Given the description of an element on the screen output the (x, y) to click on. 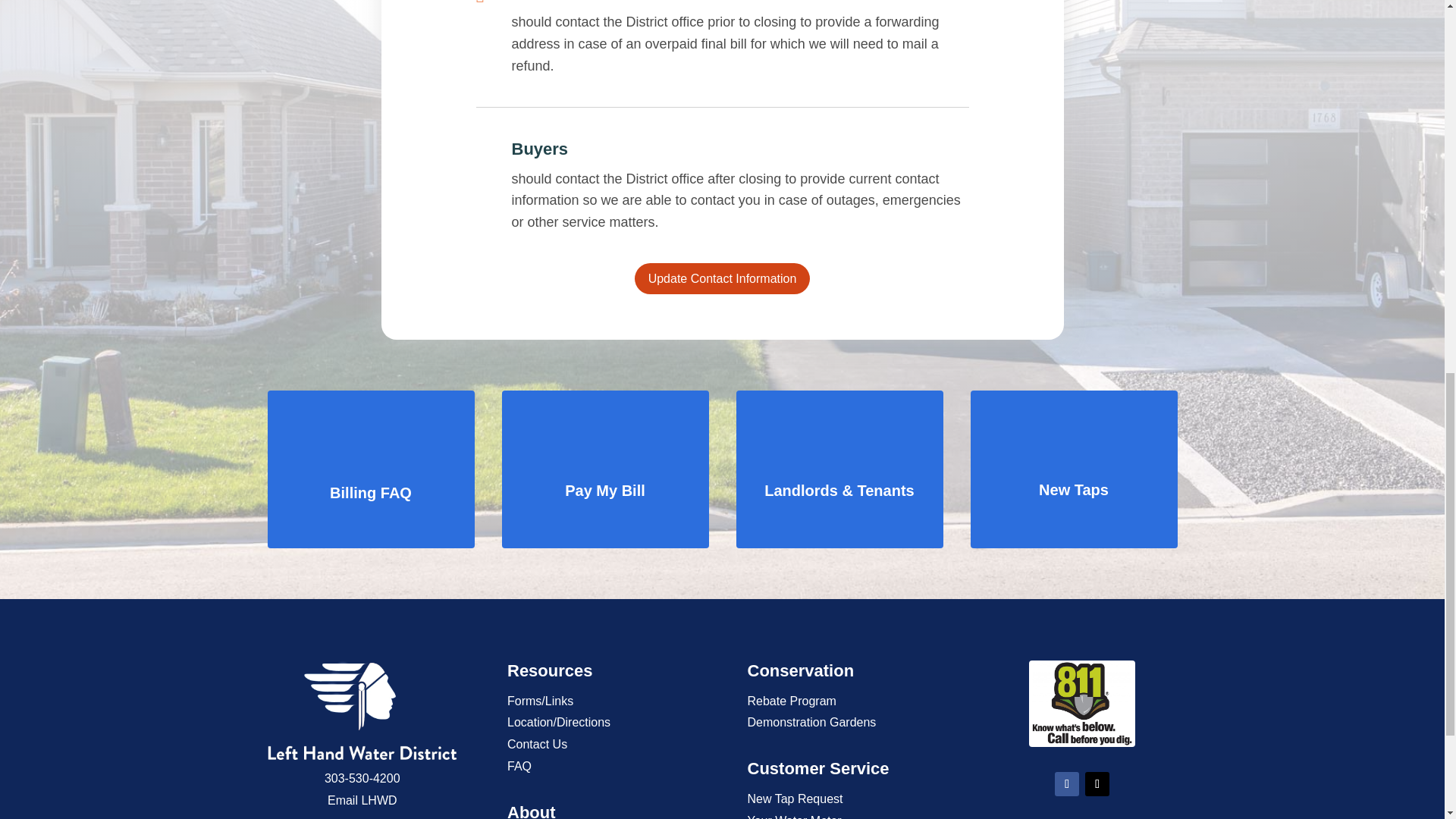
Follow on Facebook (1066, 784)
Follow on X (1096, 784)
Left Hand Water District (361, 710)
811 Call Before you Dig (1082, 703)
